Given the description of an element on the screen output the (x, y) to click on. 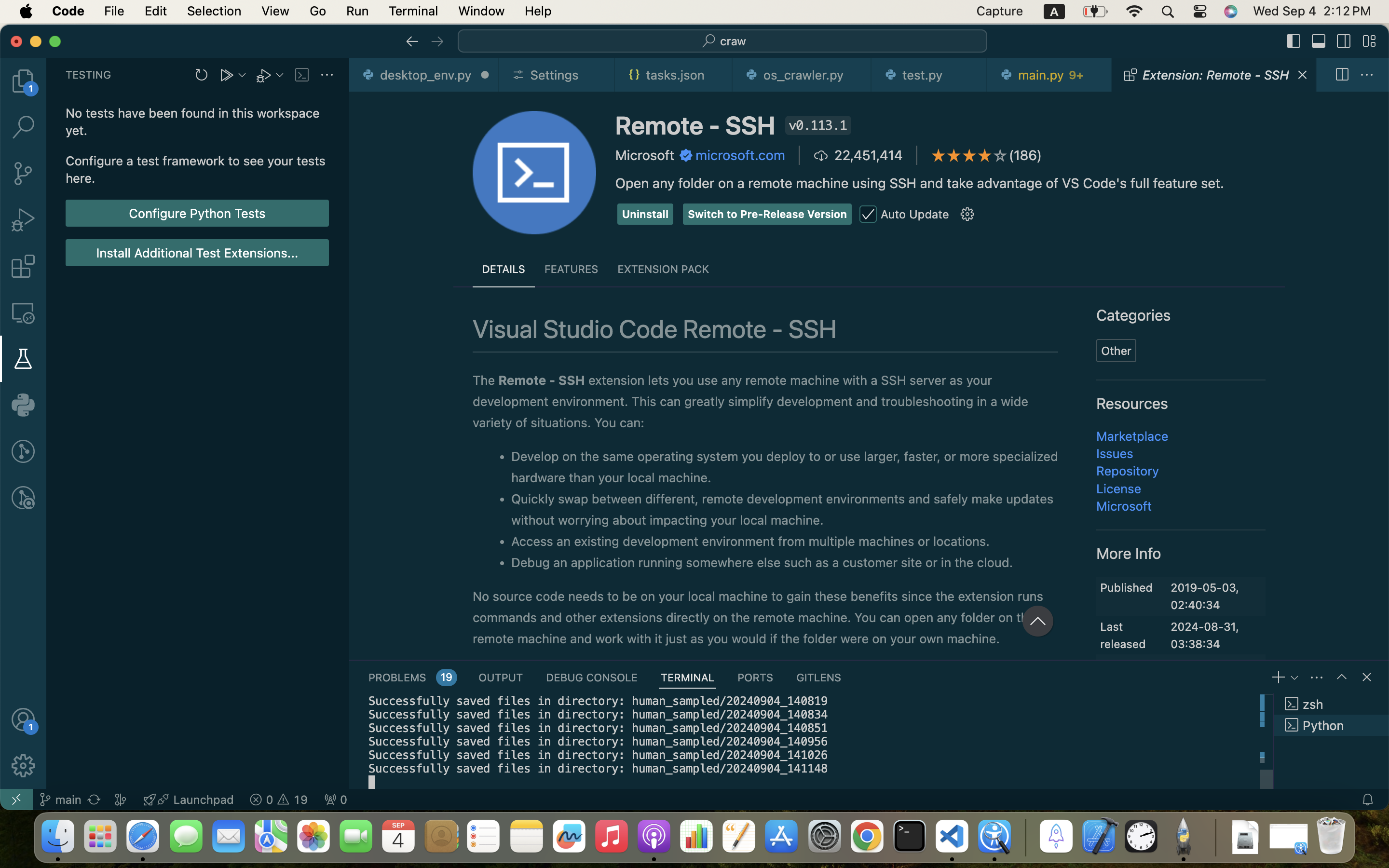
 Element type: AXGroup (23, 312)
0 PORTS Element type: AXRadioButton (755, 676)
0  Element type: AXRadioButton (23, 127)
 Element type: AXCheckBox (1293, 41)
craw Element type: AXStaticText (733, 41)
